Given the description of an element on the screen output the (x, y) to click on. 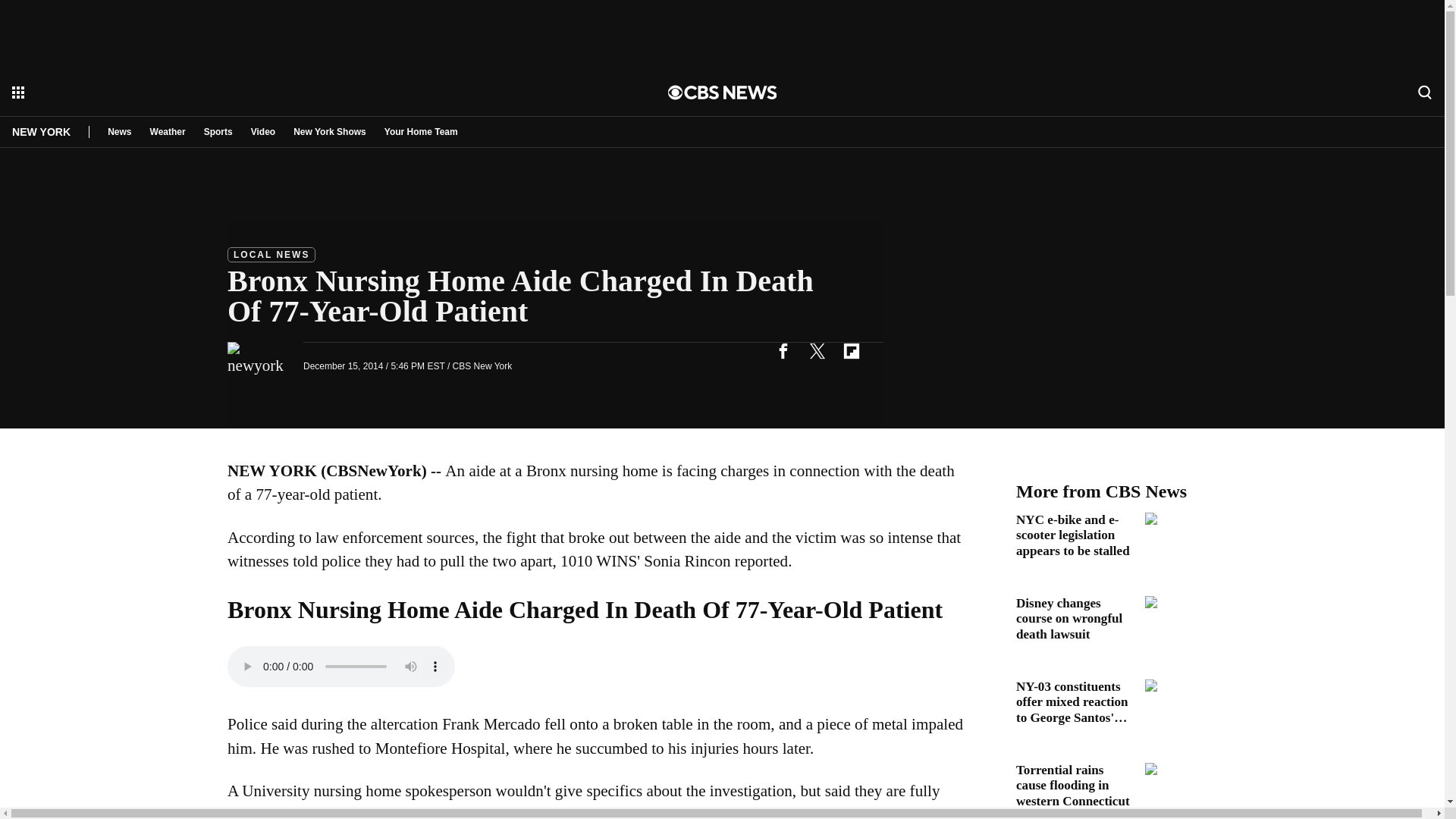
flipboard (850, 350)
facebook (782, 350)
twitter (816, 350)
